Given the description of an element on the screen output the (x, y) to click on. 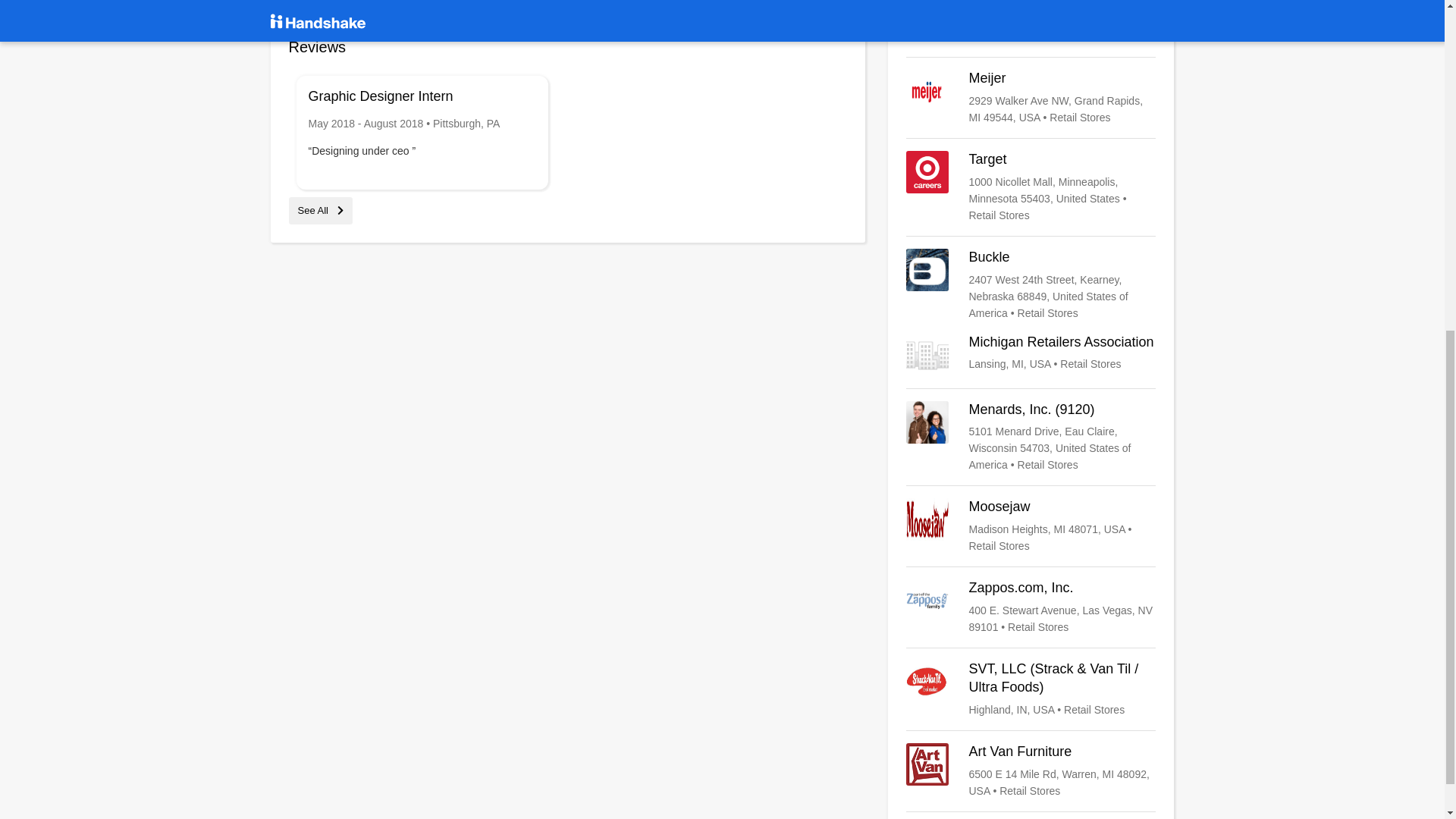
Zappos.com, Inc. (1030, 607)
Buckle (1030, 284)
Meijer (1030, 97)
Von Maur (1030, 22)
Target (1030, 186)
Michigan Retailers Association (1030, 354)
Moosejaw (1030, 525)
See All (320, 210)
Art Van Furniture (1030, 770)
